Given the description of an element on the screen output the (x, y) to click on. 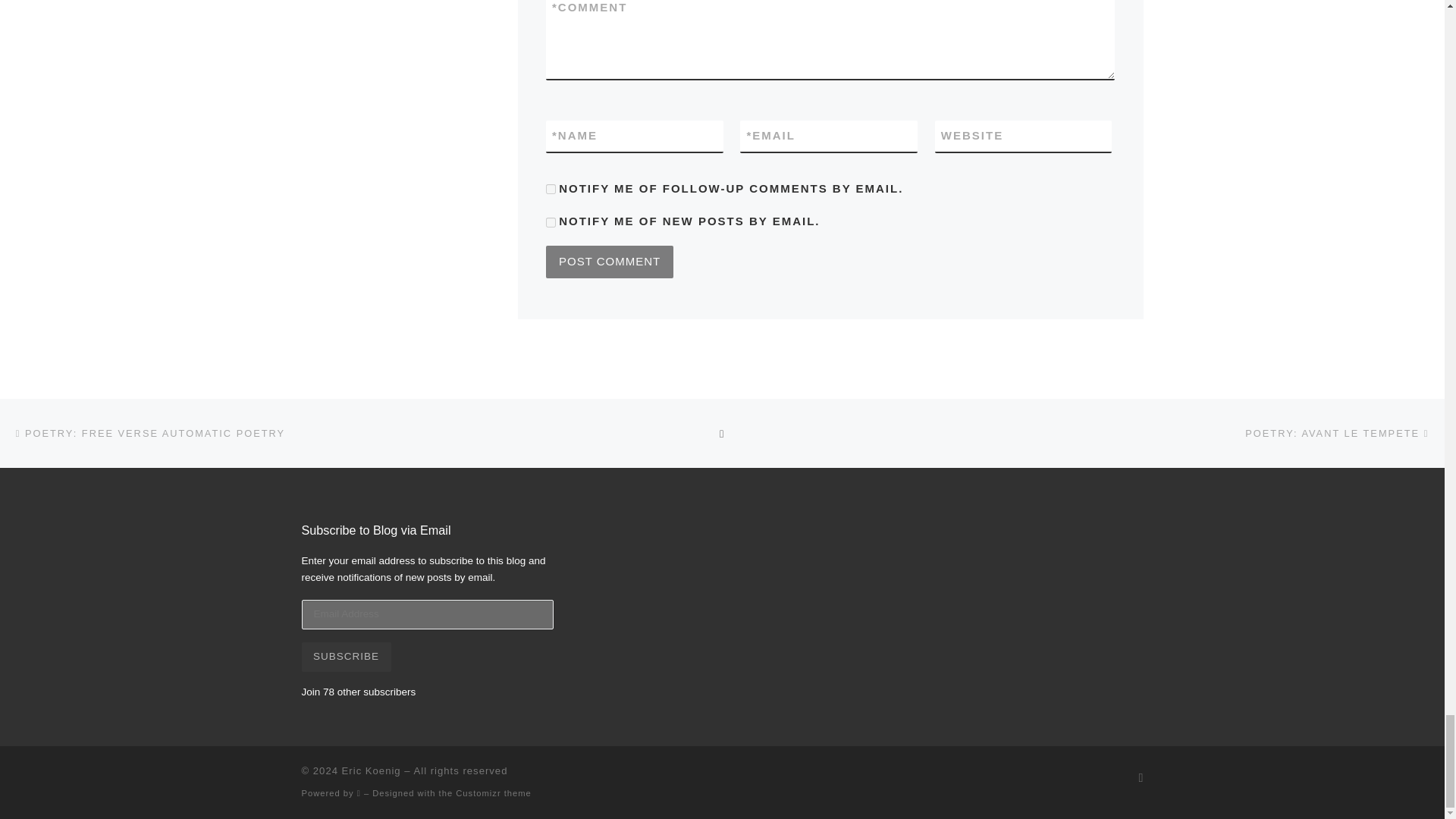
subscribe (551, 222)
Post Comment (609, 262)
subscribe (551, 189)
